Given the description of an element on the screen output the (x, y) to click on. 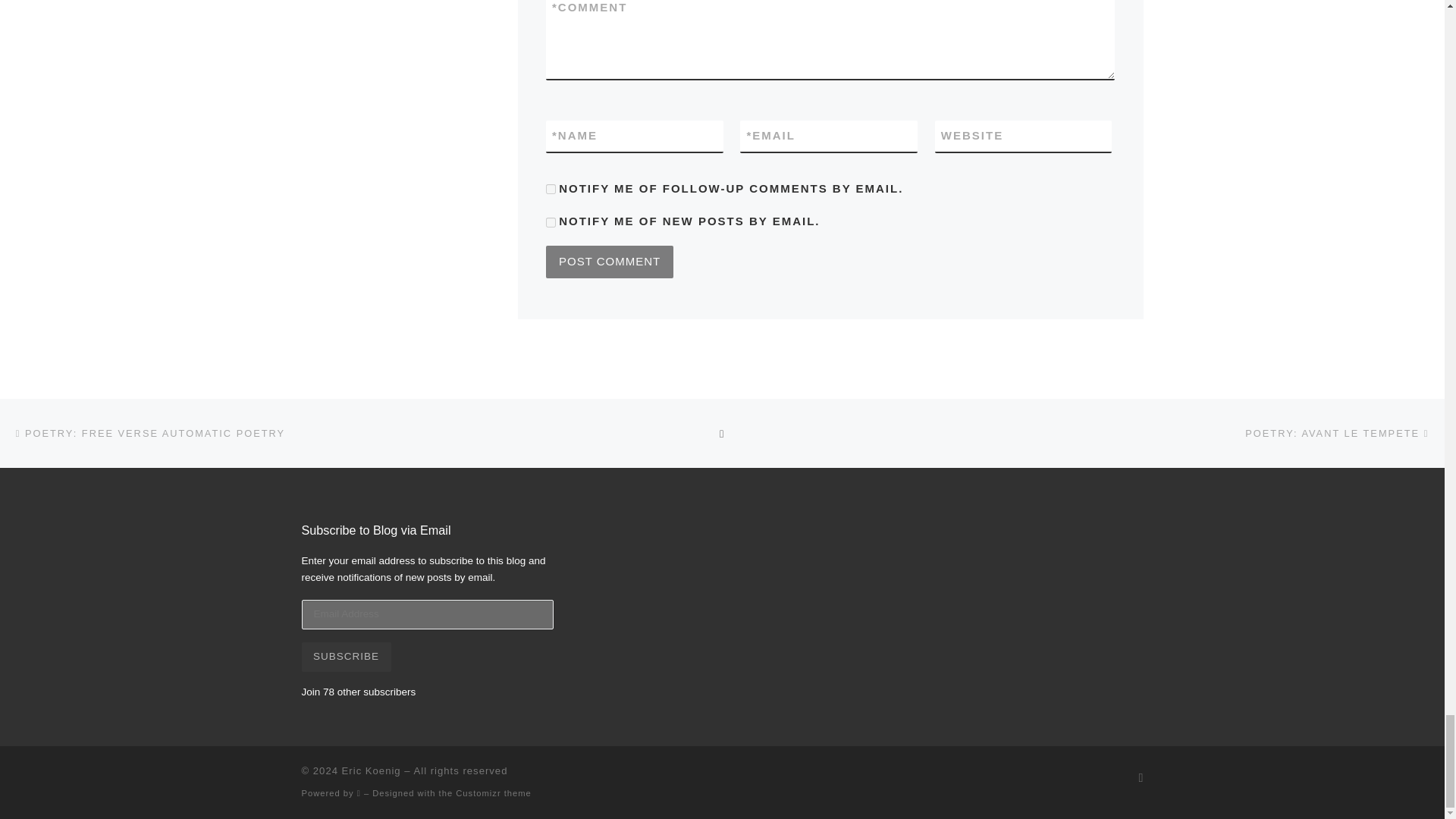
subscribe (551, 222)
Post Comment (609, 262)
subscribe (551, 189)
